Given the description of an element on the screen output the (x, y) to click on. 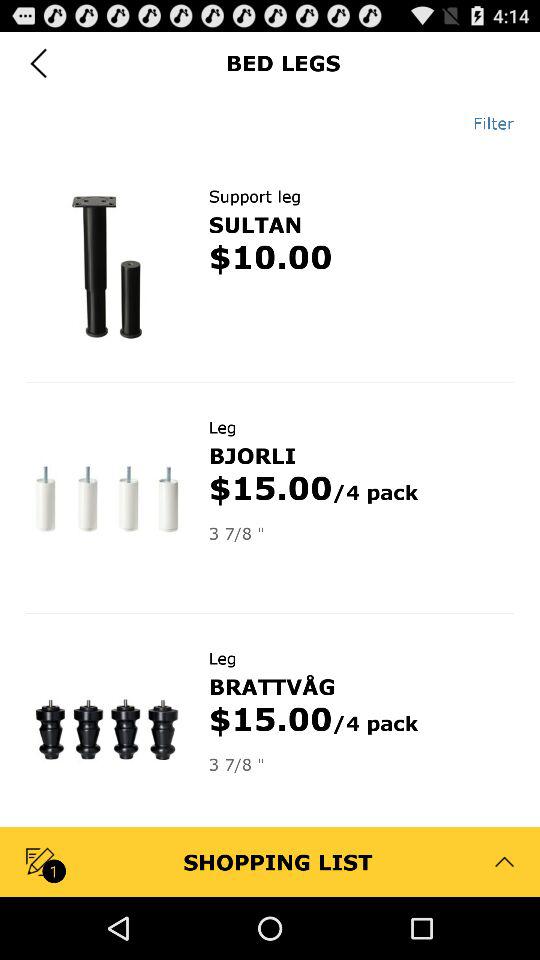
jump to support leg app (254, 195)
